Given the description of an element on the screen output the (x, y) to click on. 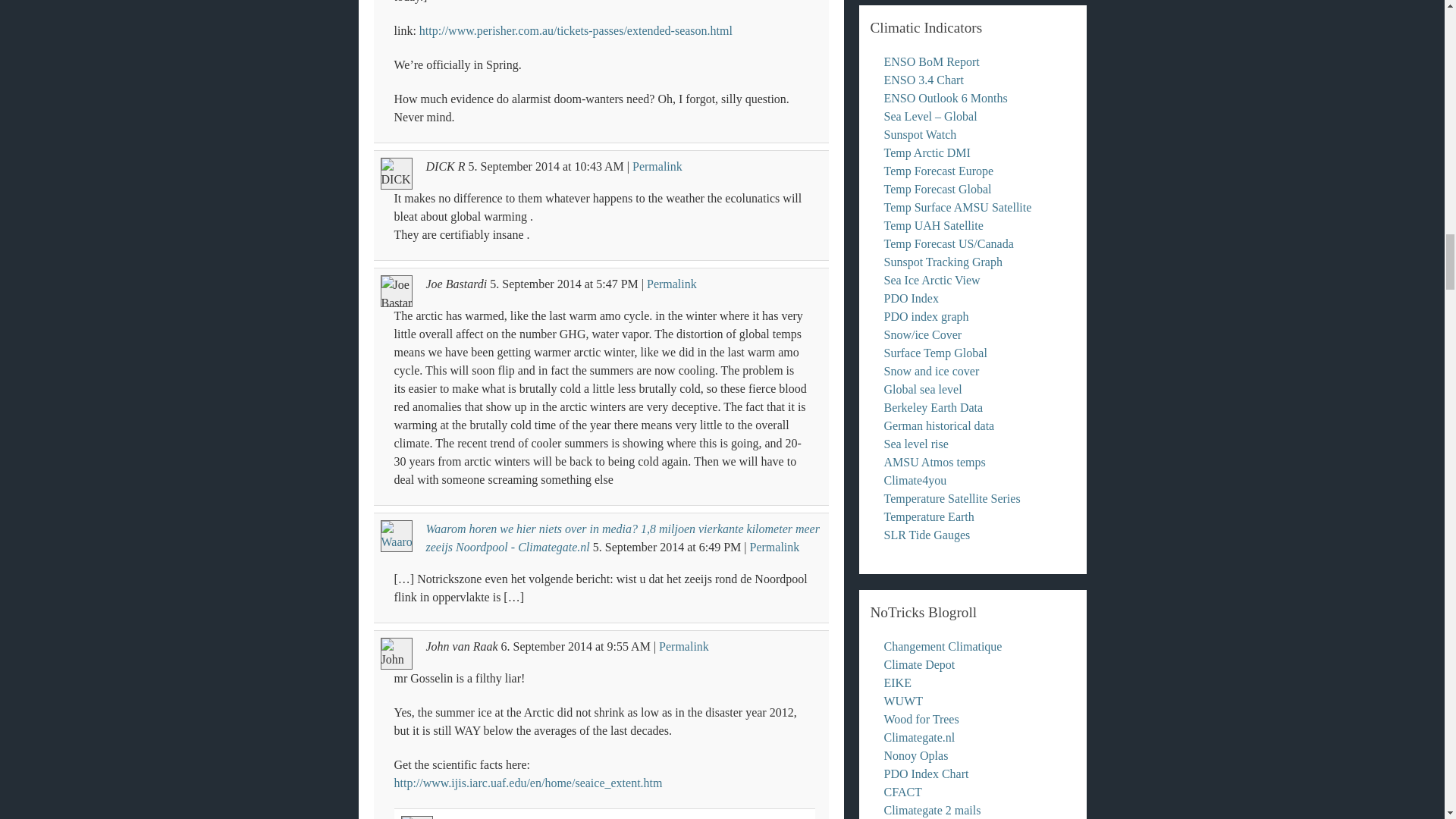
Permalink (774, 546)
Permalink (671, 283)
Permalink (656, 165)
Permalink (684, 645)
